Given the description of an element on the screen output the (x, y) to click on. 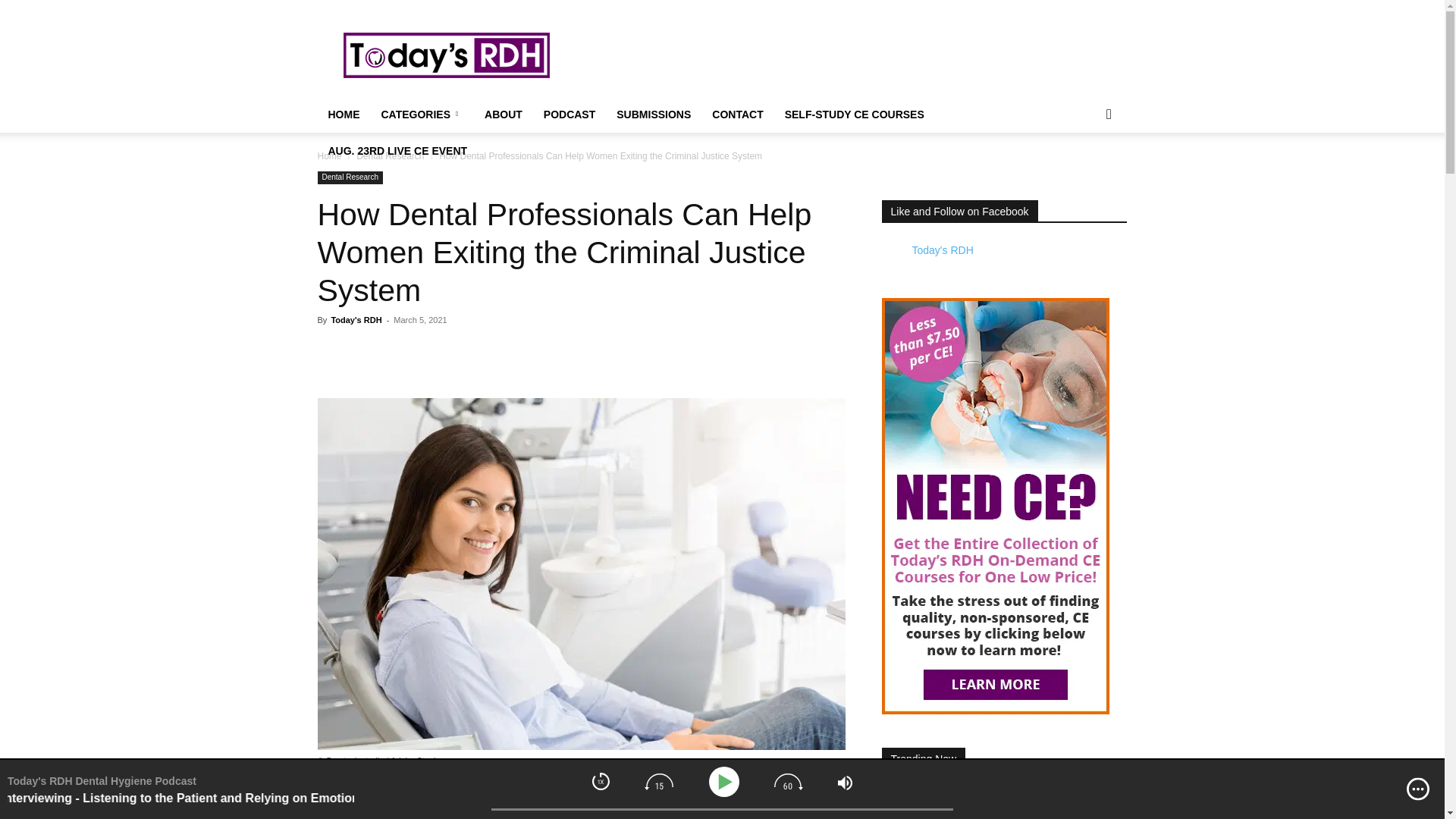
Forward 60 seconds (788, 781)
CATEGORIES (421, 114)
View all posts in Dental Research (389, 155)
Back 15 seconds (658, 781)
More (1417, 789)
HOME (343, 114)
Speed: Normal (601, 781)
